Given the description of an element on the screen output the (x, y) to click on. 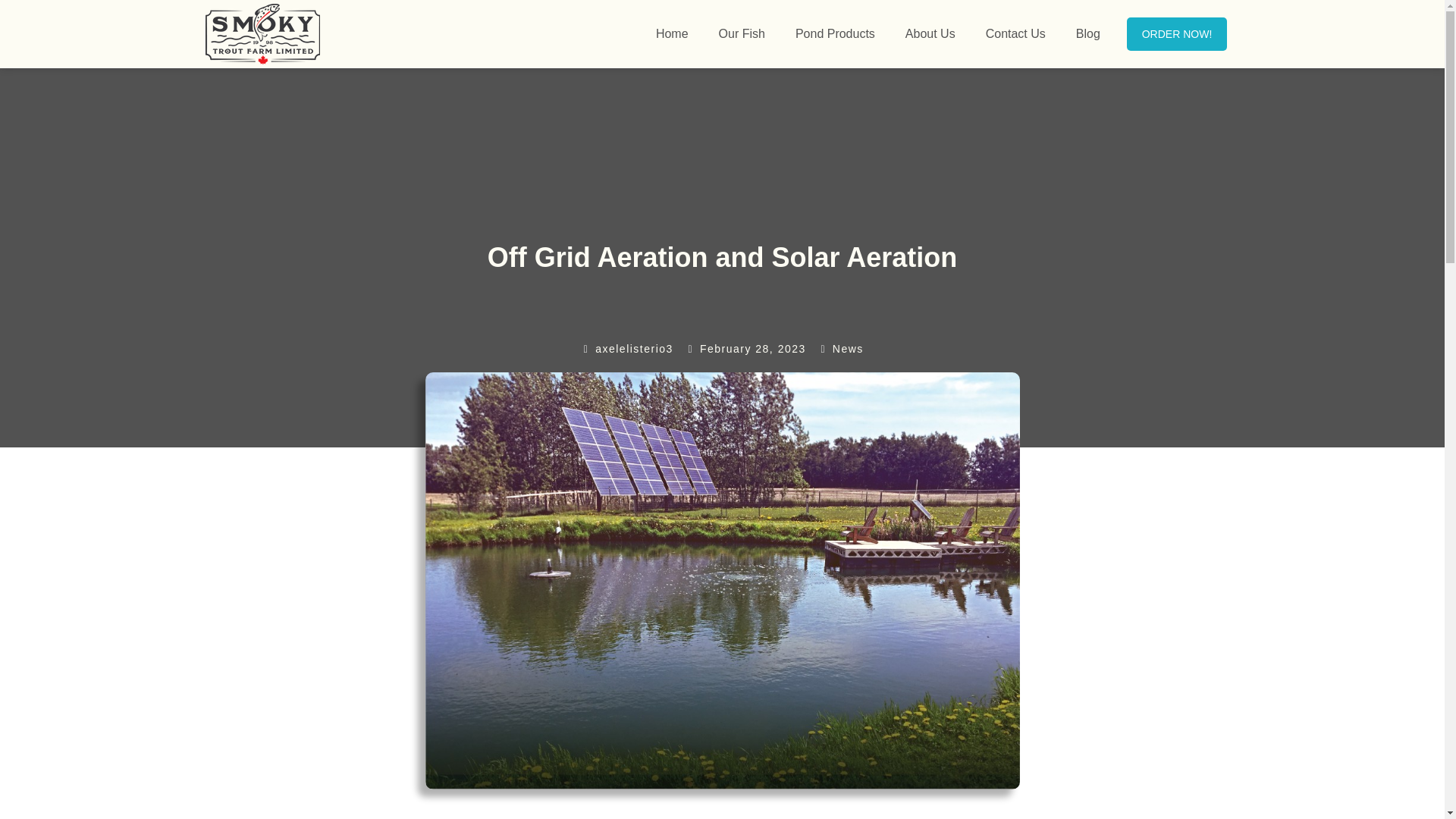
Home (672, 33)
Blog (1087, 33)
About Us (930, 33)
Our Fish (742, 33)
Contact Us (1015, 33)
ORDER NOW! (1176, 33)
Pond Products (834, 33)
